Given the description of an element on the screen output the (x, y) to click on. 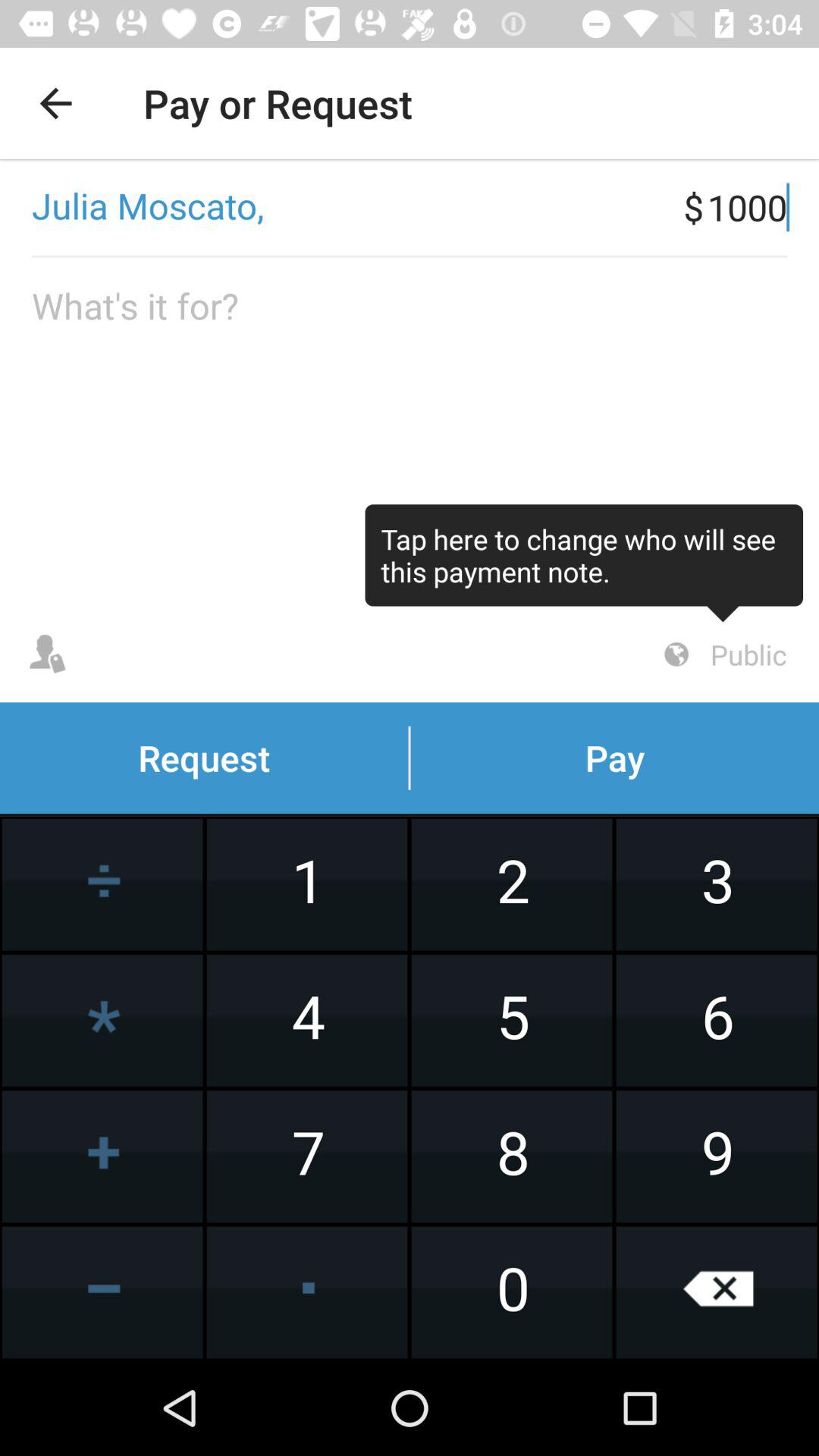
press the ,  icon (341, 207)
